Given the description of an element on the screen output the (x, y) to click on. 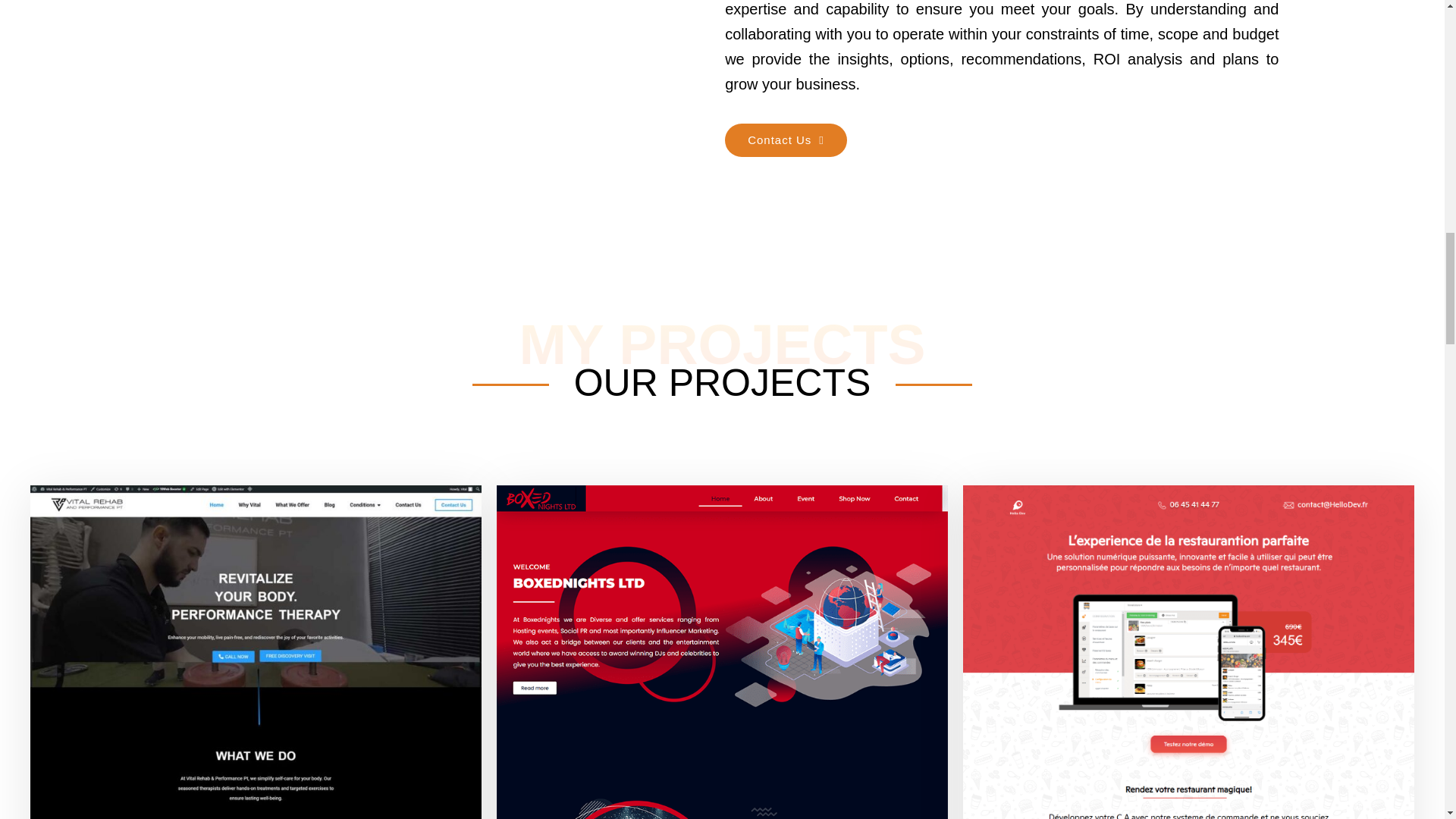
Contact Us (786, 140)
